Given the description of an element on the screen output the (x, y) to click on. 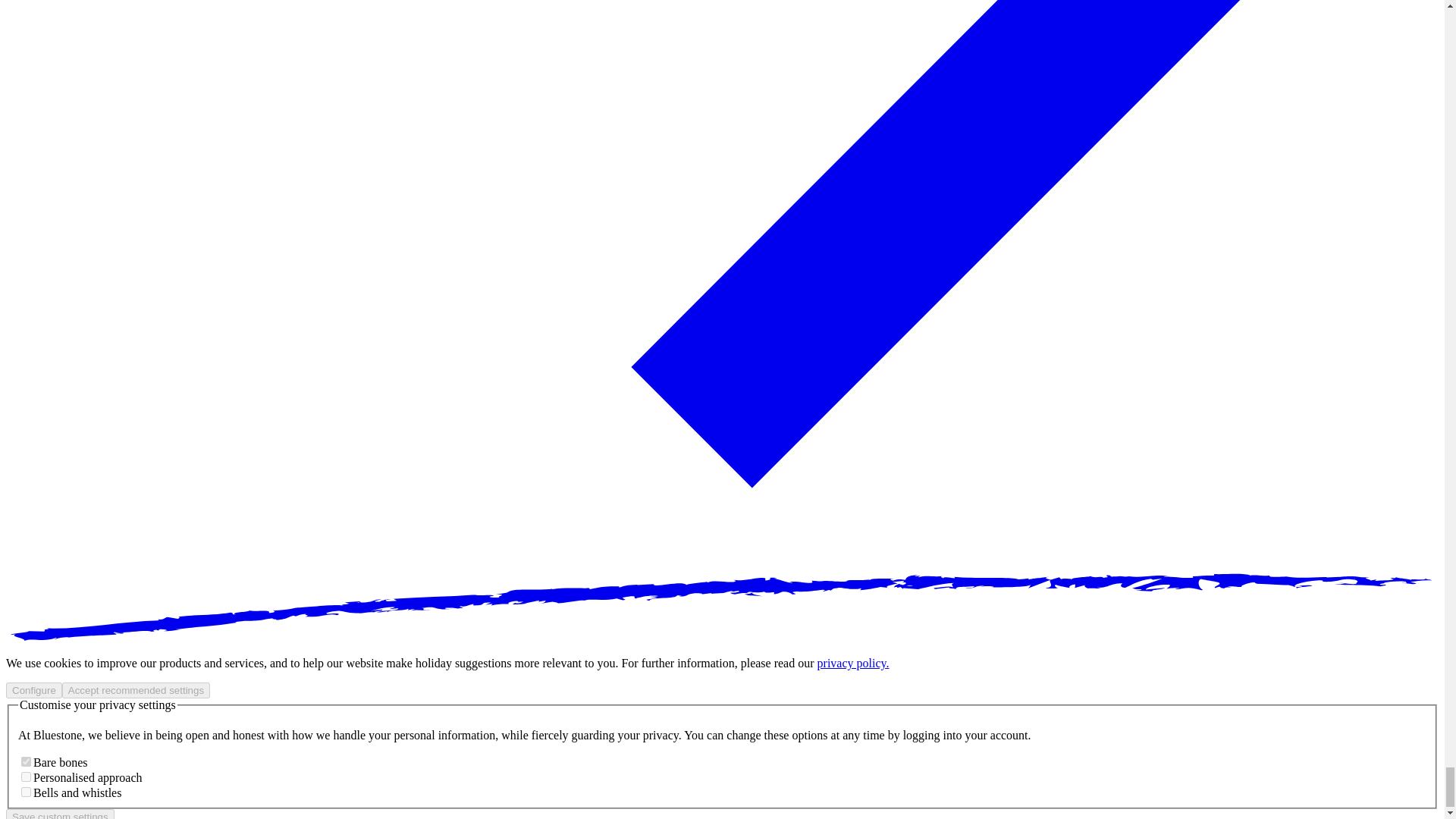
Configure (33, 690)
on (25, 777)
privacy policy. (852, 662)
Accept recommended settings (135, 690)
on (25, 761)
on (25, 791)
